Given the description of an element on the screen output the (x, y) to click on. 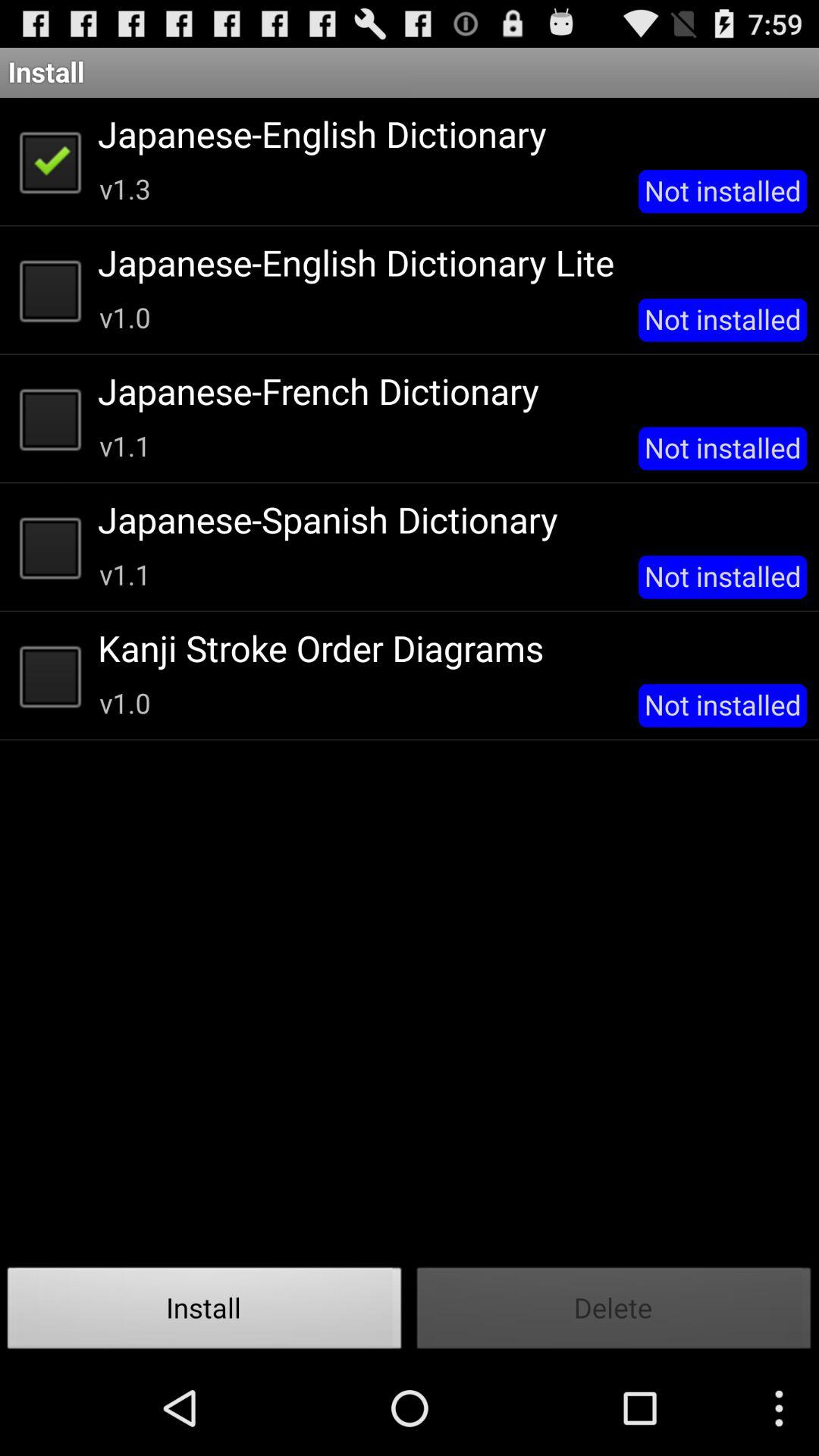
turn off item at the bottom right corner (614, 1312)
